Given the description of an element on the screen output the (x, y) to click on. 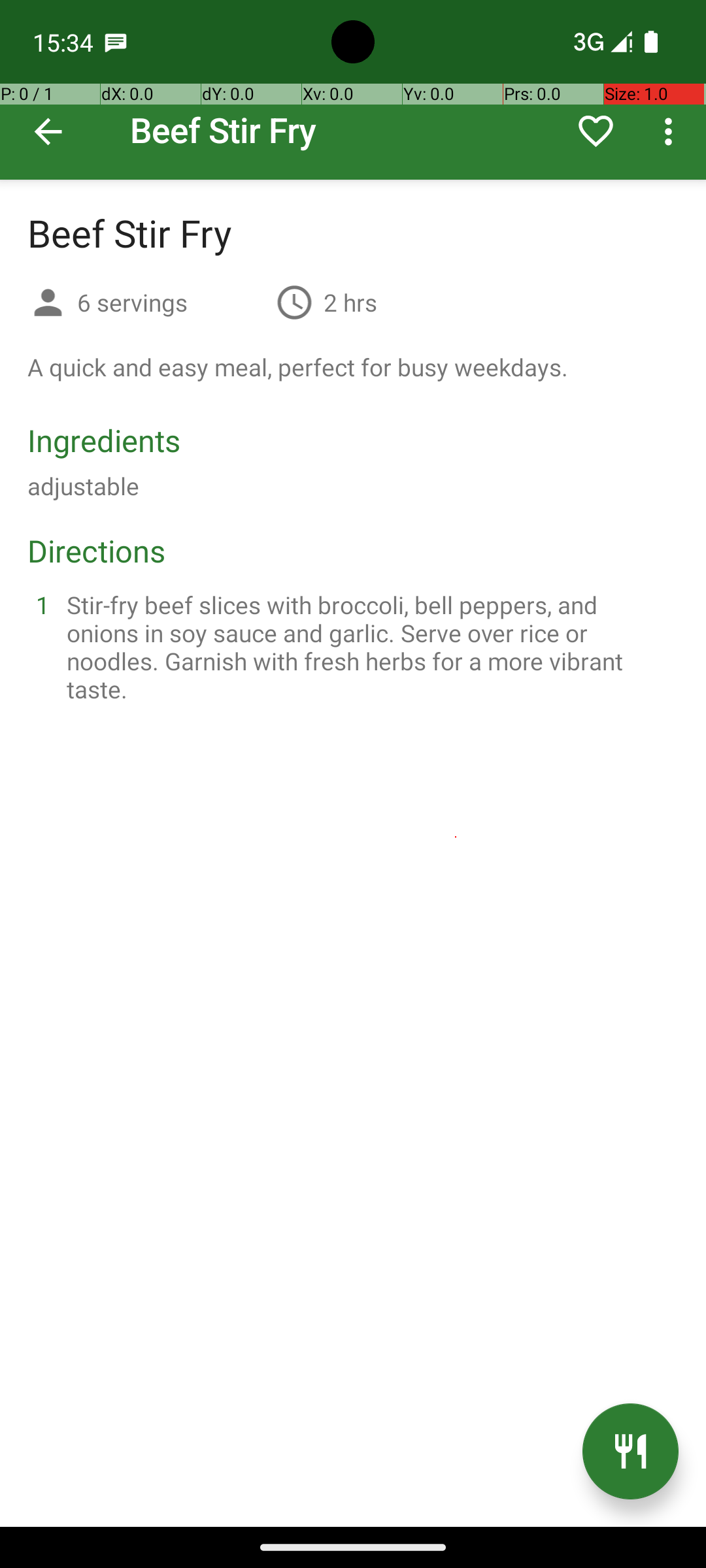
6 servings Element type: android.widget.TextView (170, 301)
2 hrs Element type: android.widget.TextView (350, 301)
adjustable Element type: android.widget.TextView (83, 485)
Stir-fry beef slices with broccoli, bell peppers, and onions in soy sauce and garlic. Serve over rice or noodles. Garnish with fresh herbs for a more vibrant taste. Element type: android.widget.TextView (368, 646)
